Given the description of an element on the screen output the (x, y) to click on. 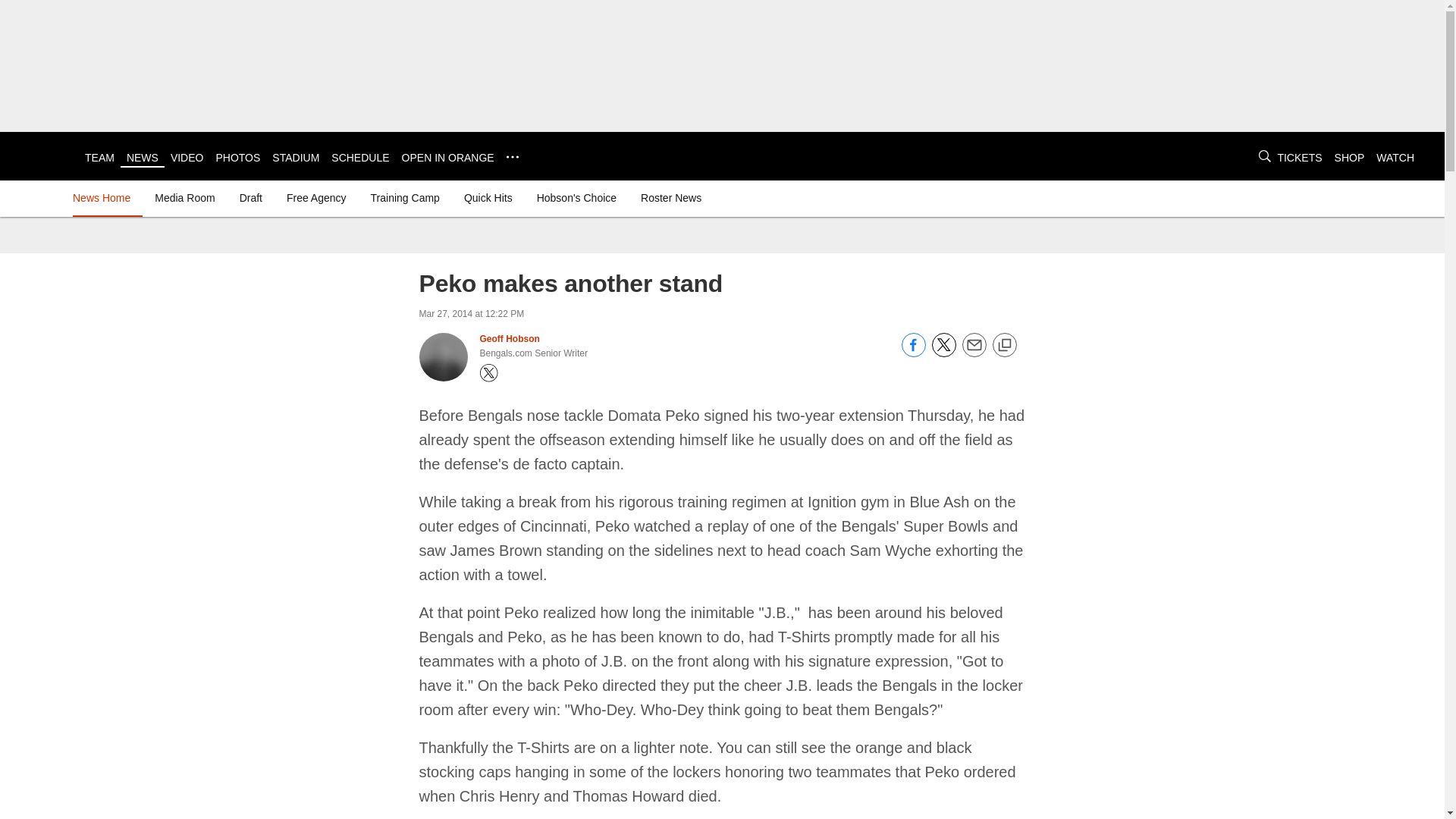
Media Room (184, 197)
... (512, 156)
PHOTOS (237, 157)
PHOTOS (237, 157)
Training Camp (405, 197)
STADIUM (295, 157)
WATCH (1394, 157)
TICKETS (1299, 157)
VIDEO (186, 157)
SHOP (1350, 157)
